Given the description of an element on the screen output the (x, y) to click on. 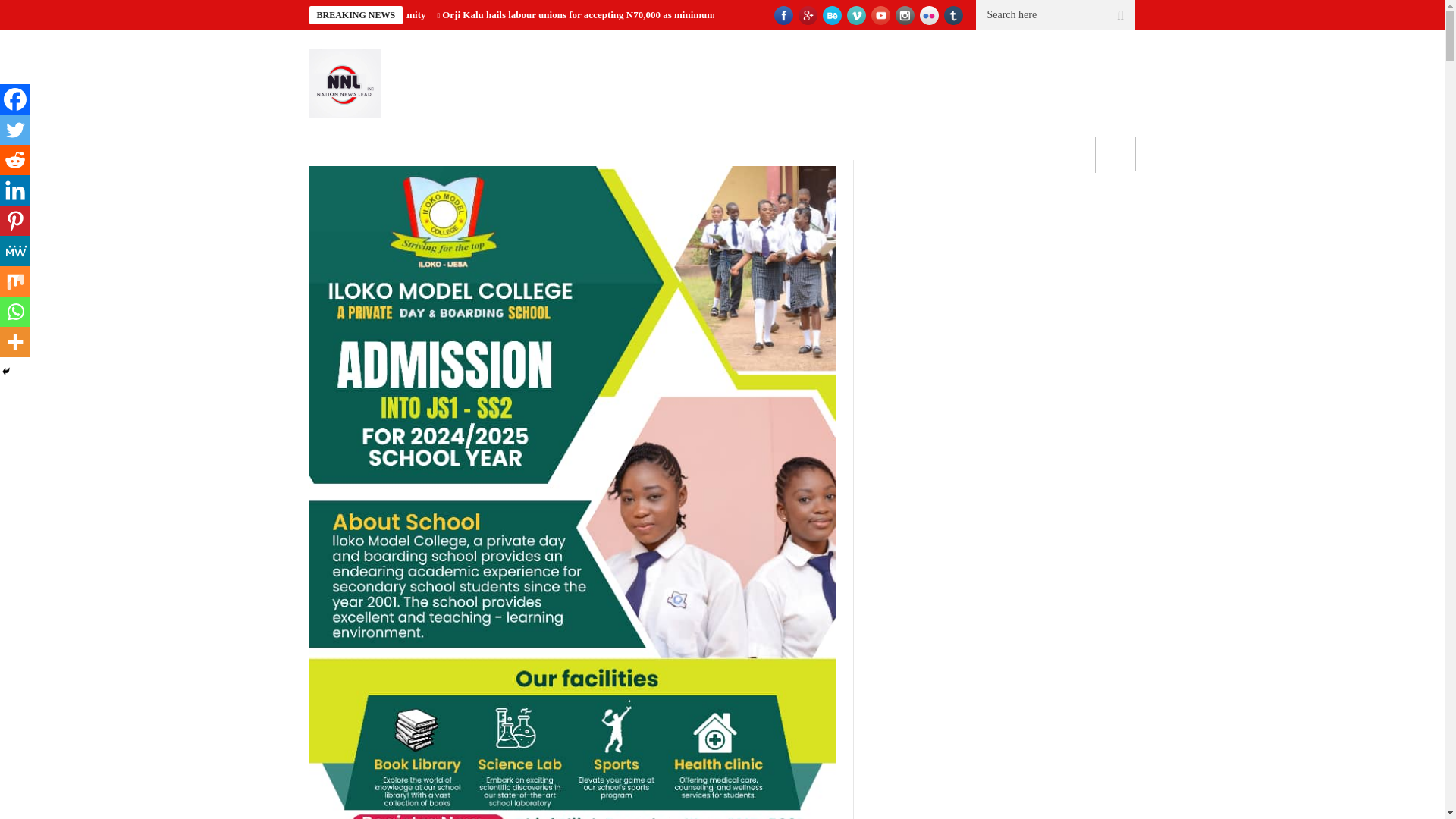
Foundation hands over healthcare facility to Niger community (294, 14)
